Given the description of an element on the screen output the (x, y) to click on. 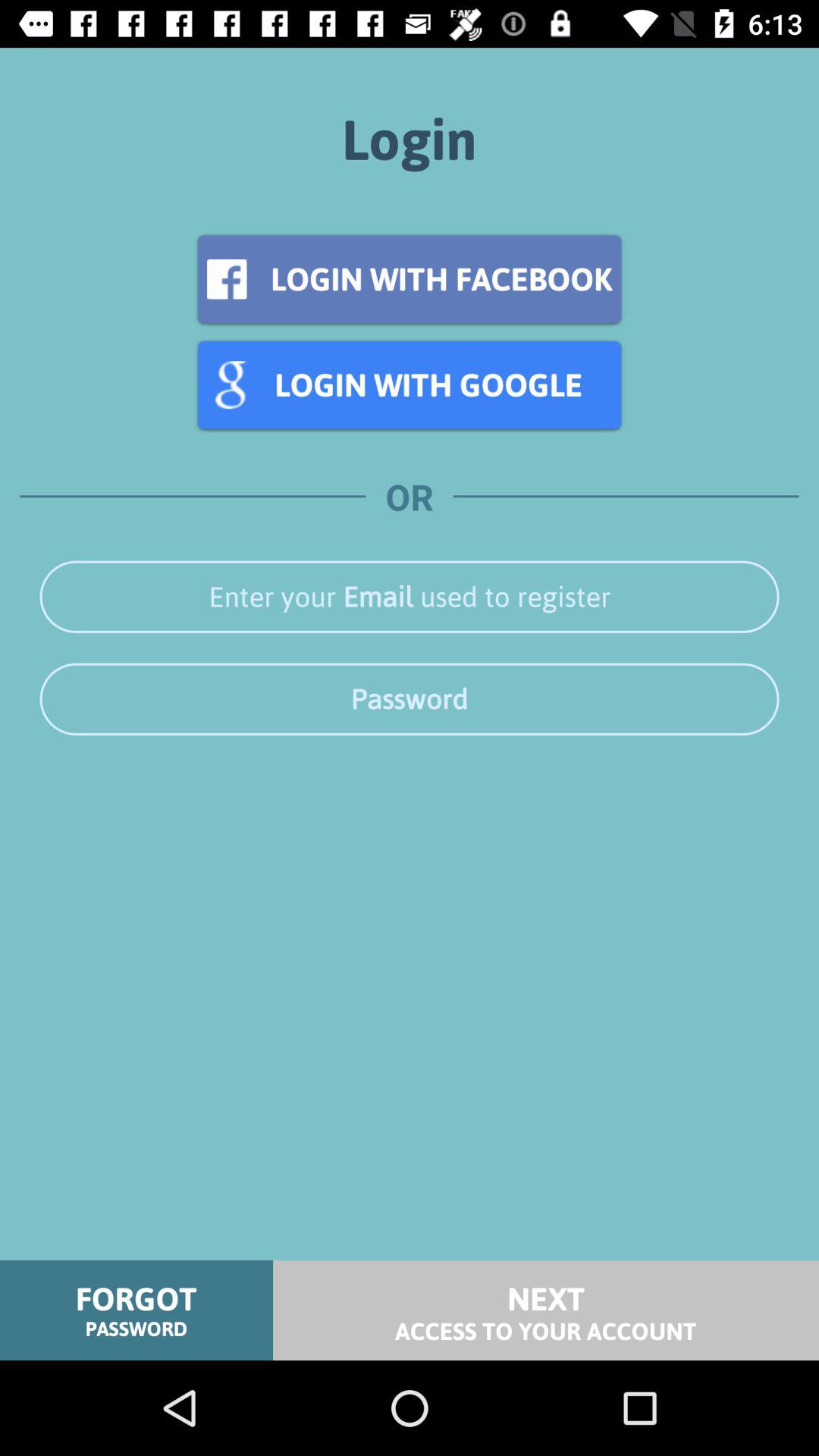
select password field (409, 699)
